Given the description of an element on the screen output the (x, y) to click on. 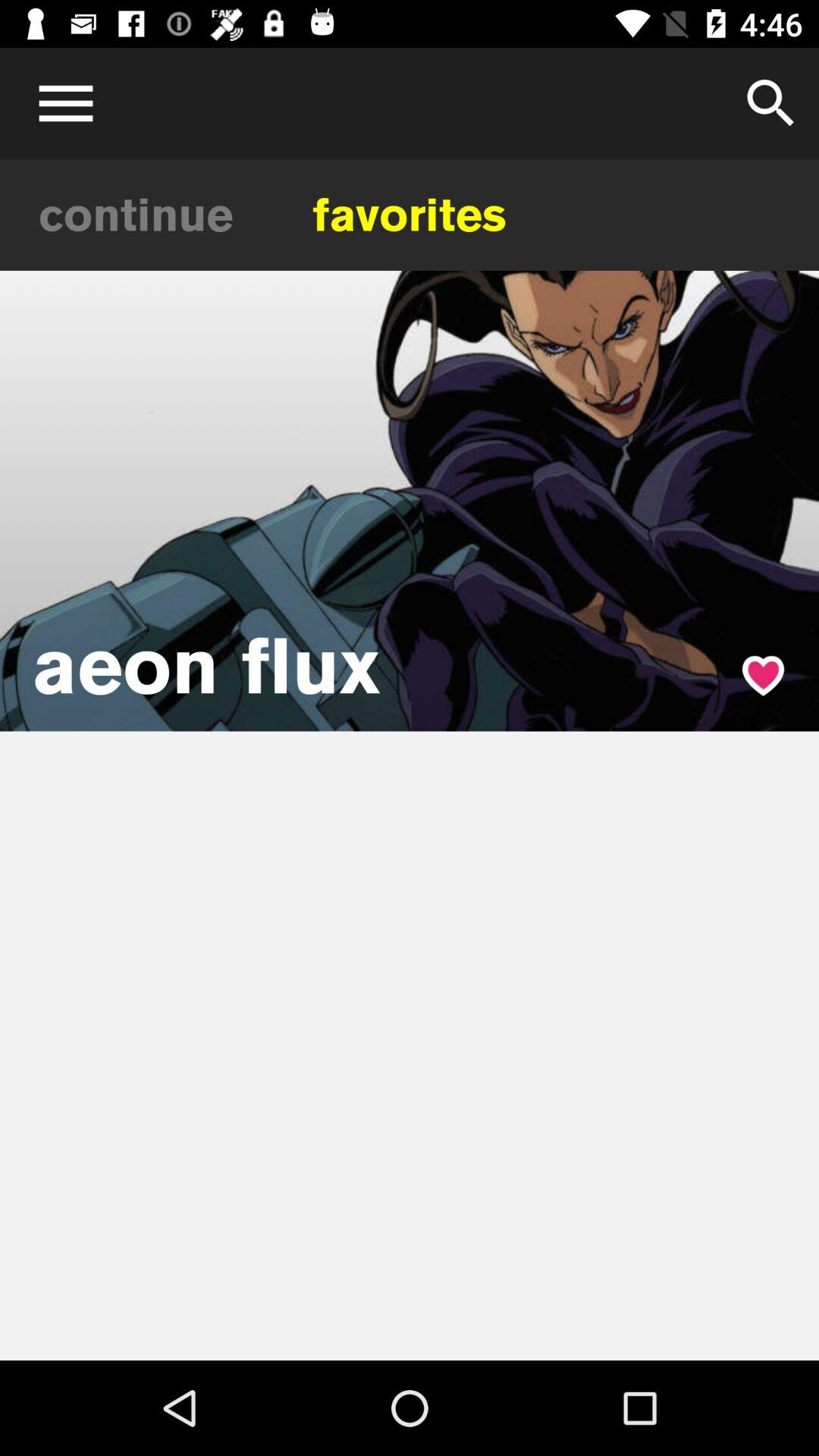
like the option (763, 675)
